Given the description of an element on the screen output the (x, y) to click on. 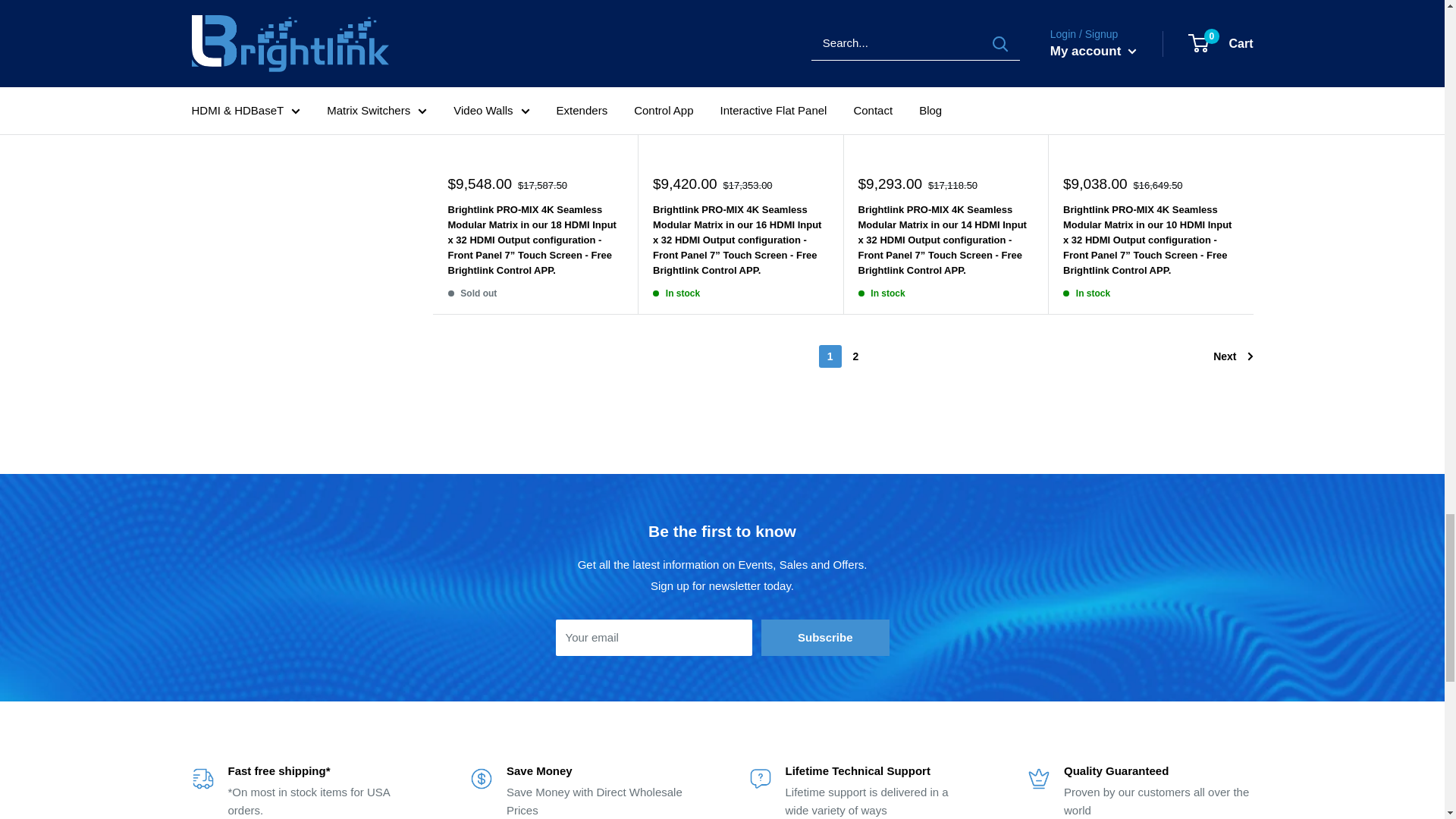
Next (1232, 355)
Navigate to page 2 (855, 355)
